Given the description of an element on the screen output the (x, y) to click on. 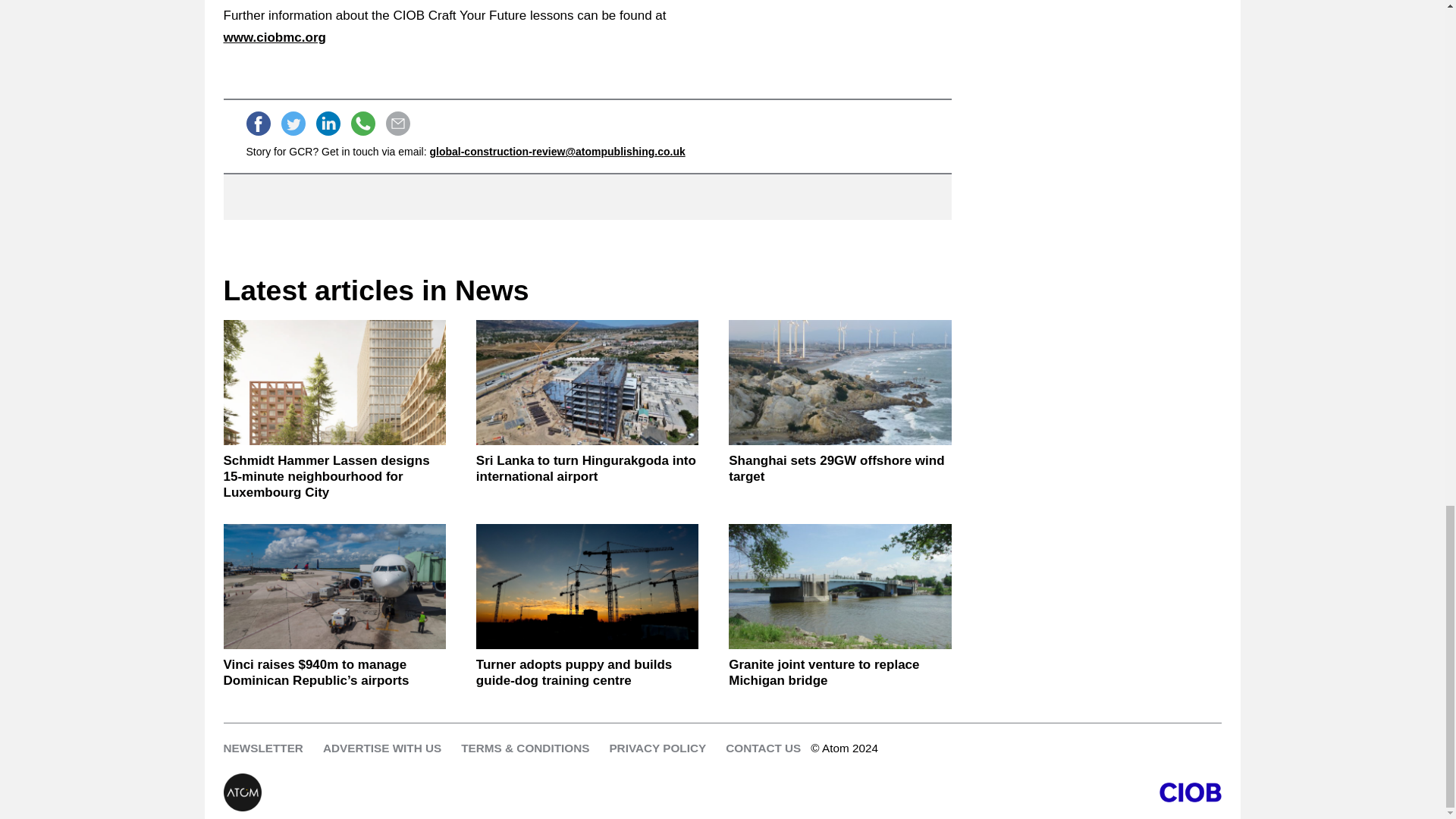
Share on Facebook (257, 123)
Sri Lanka to turn Hingurakgoda into international airport (587, 468)
Share on WhatsApp (362, 123)
Shanghai sets 29GW offshore wind target (839, 382)
Send email (397, 123)
Tweet (292, 123)
Share on LinkedIn (327, 123)
Sri Lanka to turn Hingurakgoda into international airport (587, 382)
